Given the description of an element on the screen output the (x, y) to click on. 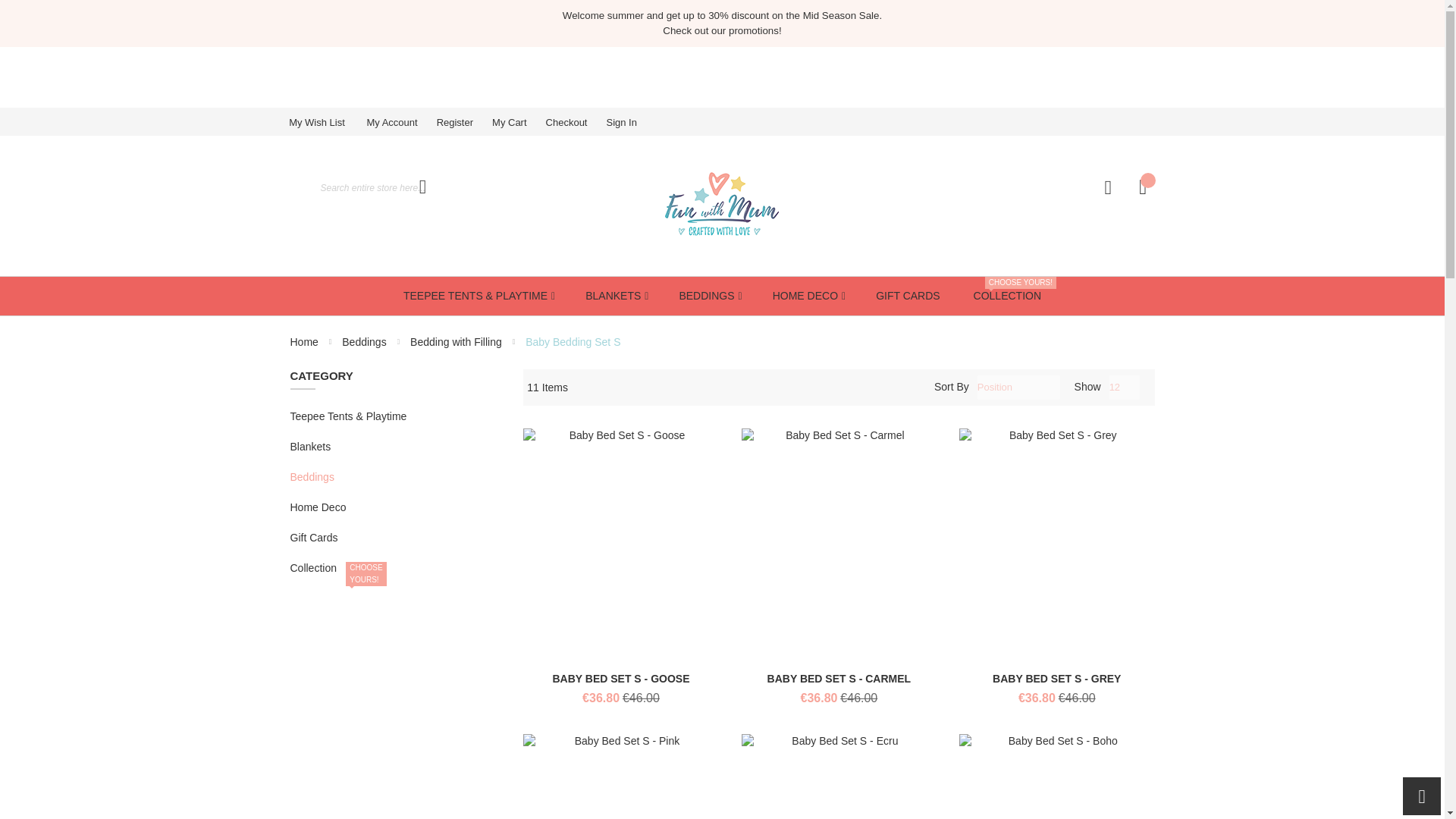
Checkout (576, 122)
Register (464, 122)
My Account (400, 122)
mid season sale (721, 30)
Search (421, 186)
Go to Home Page (304, 341)
mid season sale (722, 15)
SEARCH (421, 186)
Sign In (630, 122)
My Wish List (326, 122)
My Cart (519, 122)
Check out our promotions! (721, 30)
